Given the description of an element on the screen output the (x, y) to click on. 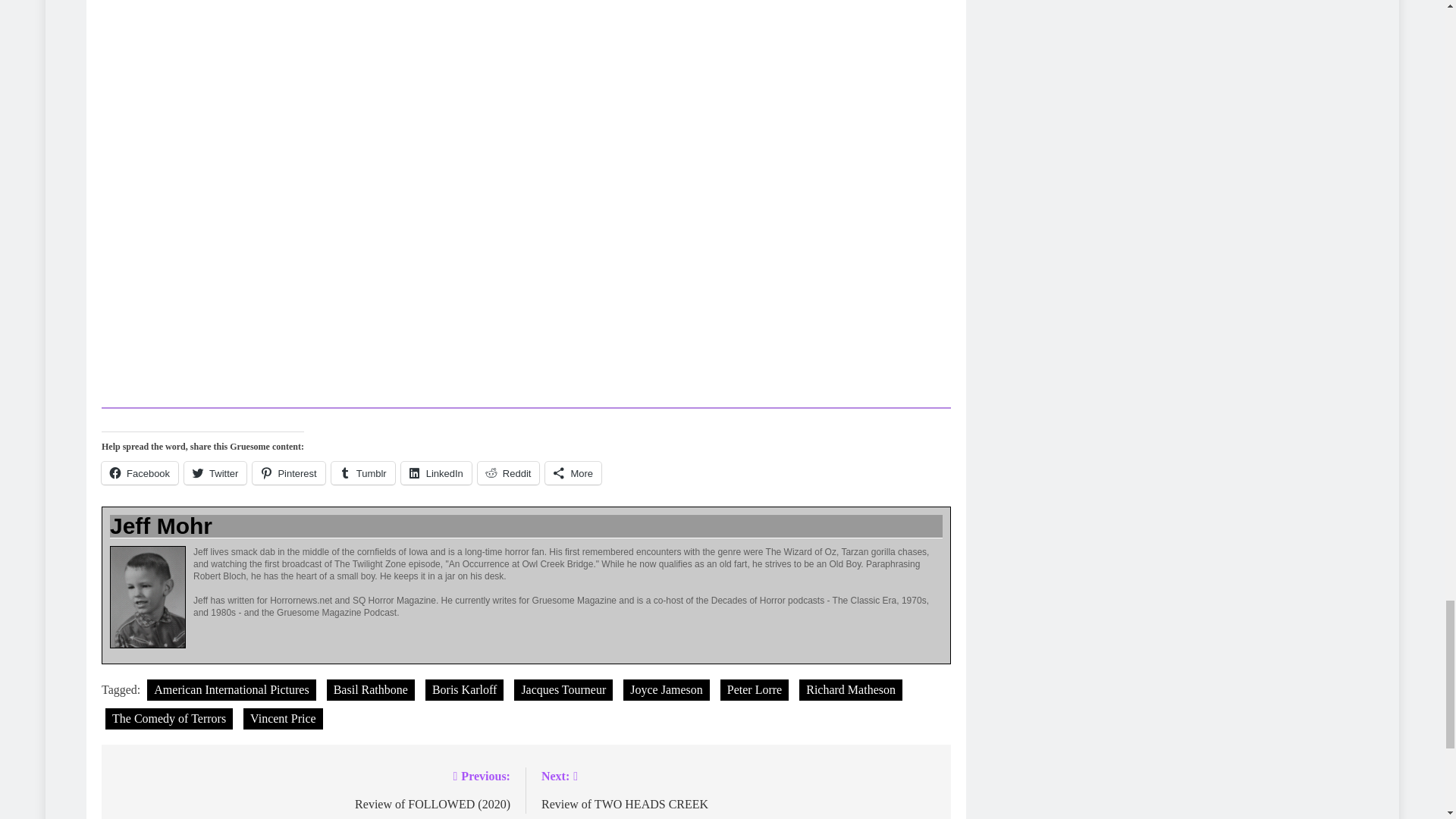
Click to share on Twitter (215, 472)
Click to share on LinkedIn (436, 472)
Click to share on Reddit (508, 472)
Click to share on Pinterest (287, 472)
Click to share on Facebook (139, 472)
Click to share on Tumblr (362, 472)
